Given the description of an element on the screen output the (x, y) to click on. 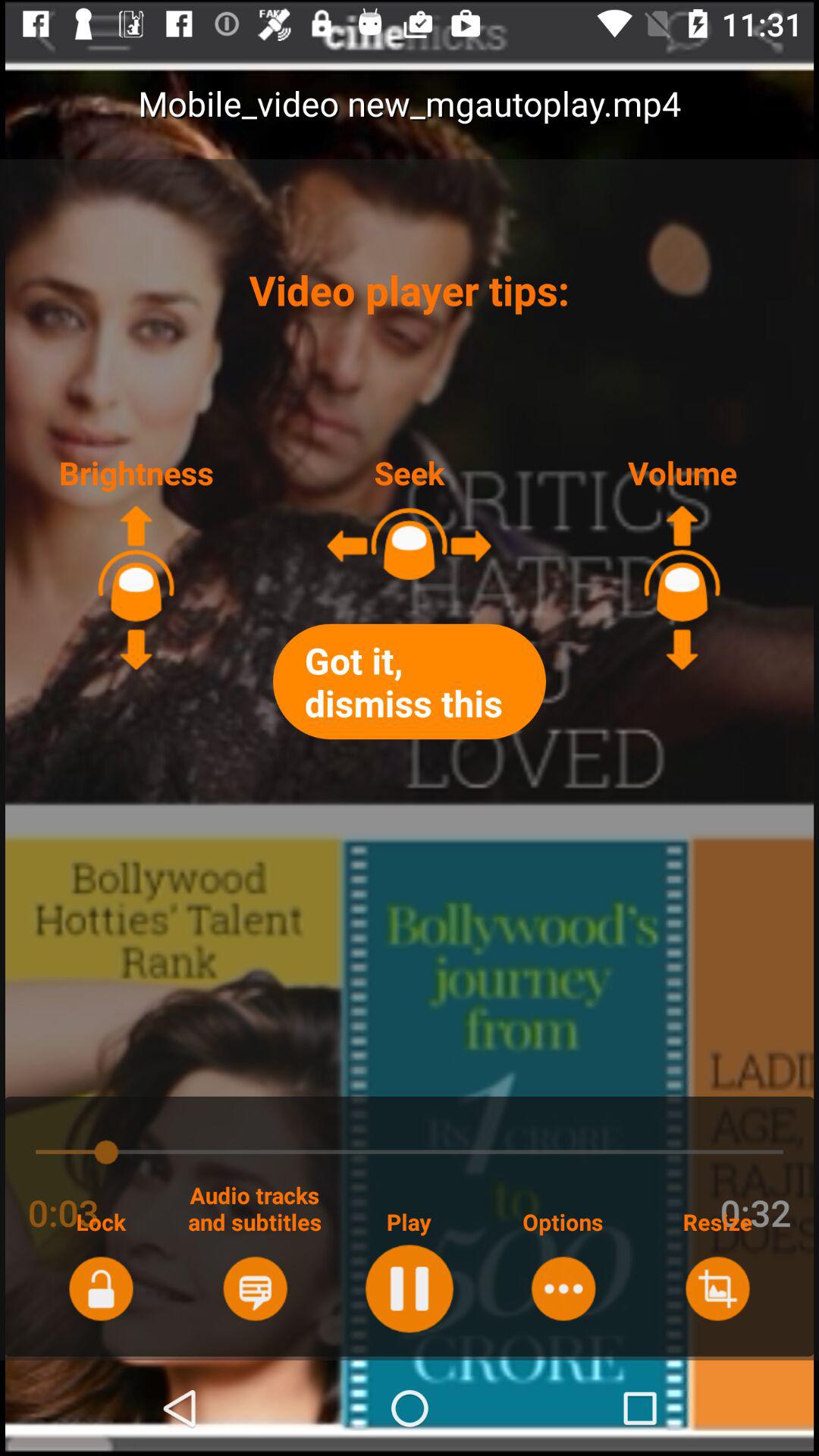
add tracks (255, 1288)
